Given the description of an element on the screen output the (x, y) to click on. 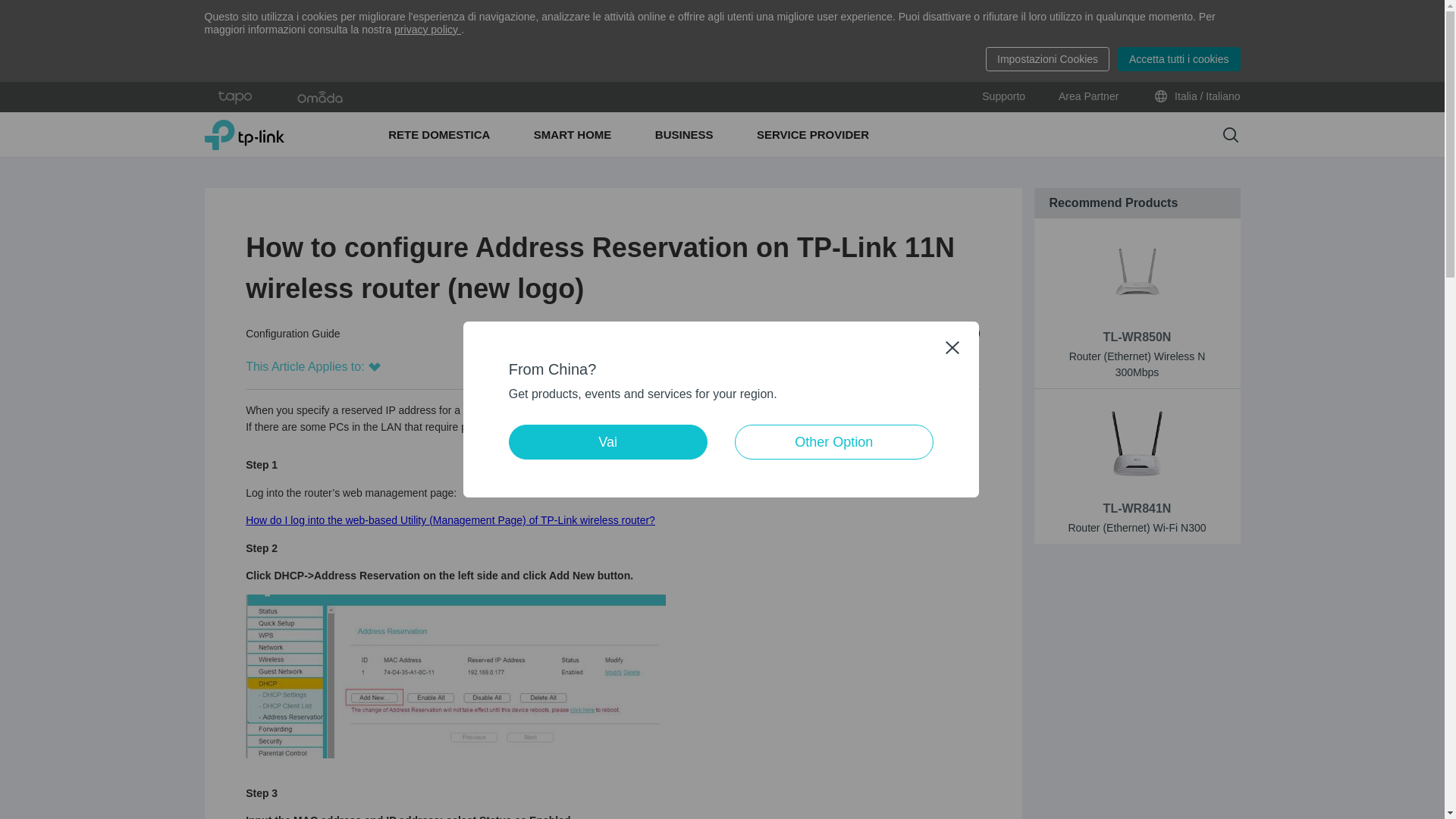
Supporto (1003, 96)
Accetta tutti i cookies (1179, 58)
TP-Link, Reliably Smart (244, 134)
omada (319, 96)
RETE DOMESTICA (440, 135)
privacy policy (427, 29)
Area Partner (1088, 96)
Search (1230, 134)
tapo (234, 96)
Impostazioni Cookies (1047, 58)
